Given the description of an element on the screen output the (x, y) to click on. 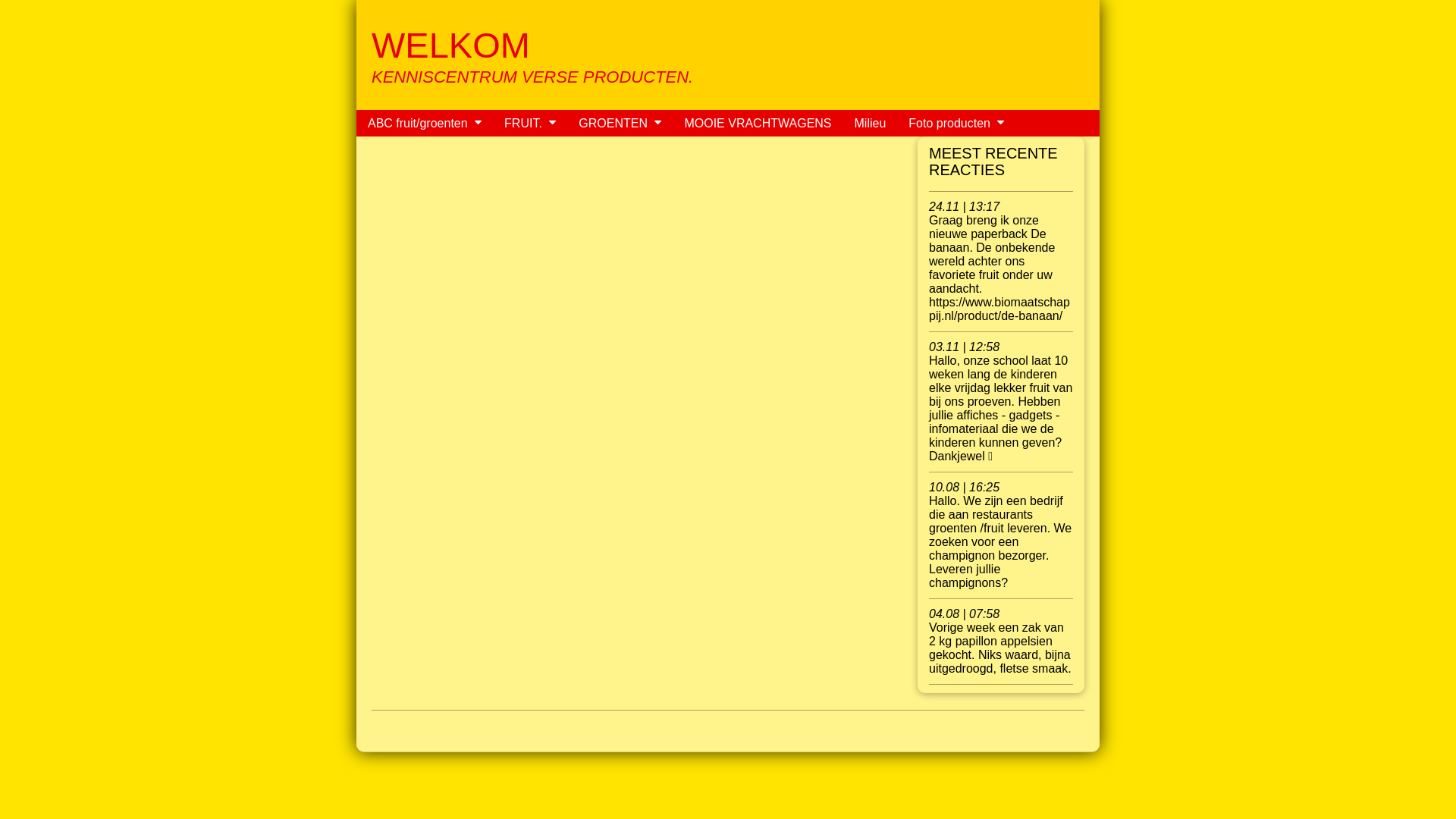
WELKOM Element type: text (450, 44)
Milieu Element type: text (870, 122)
Foto producten Element type: text (945, 122)
GROENTEN Element type: text (609, 122)
MOOIE VRACHTWAGENS Element type: text (757, 122)
FRUIT. Element type: text (519, 122)
ABC fruit/groenten Element type: text (413, 122)
